Given the description of an element on the screen output the (x, y) to click on. 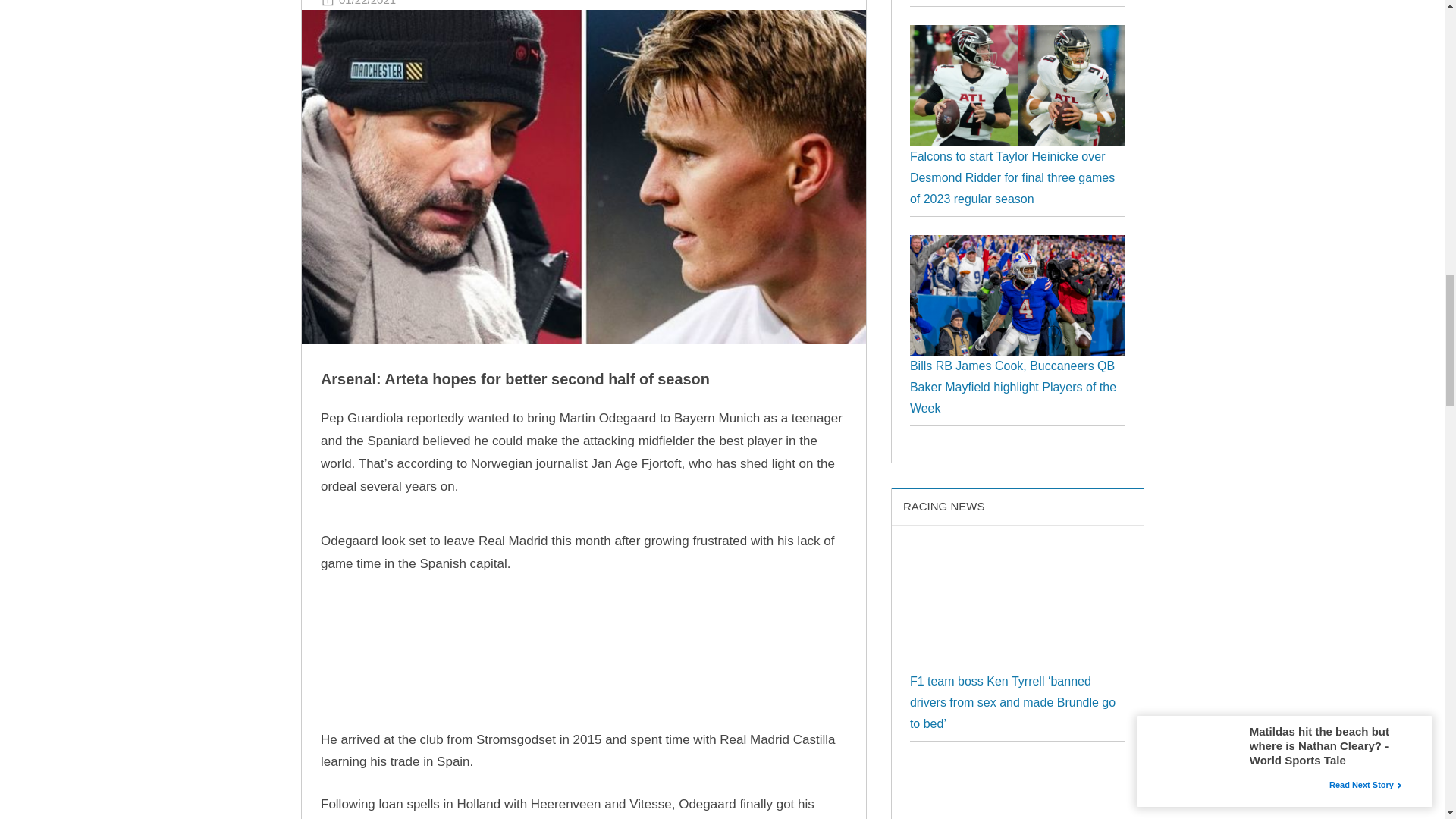
20:19 (367, 2)
